Given the description of an element on the screen output the (x, y) to click on. 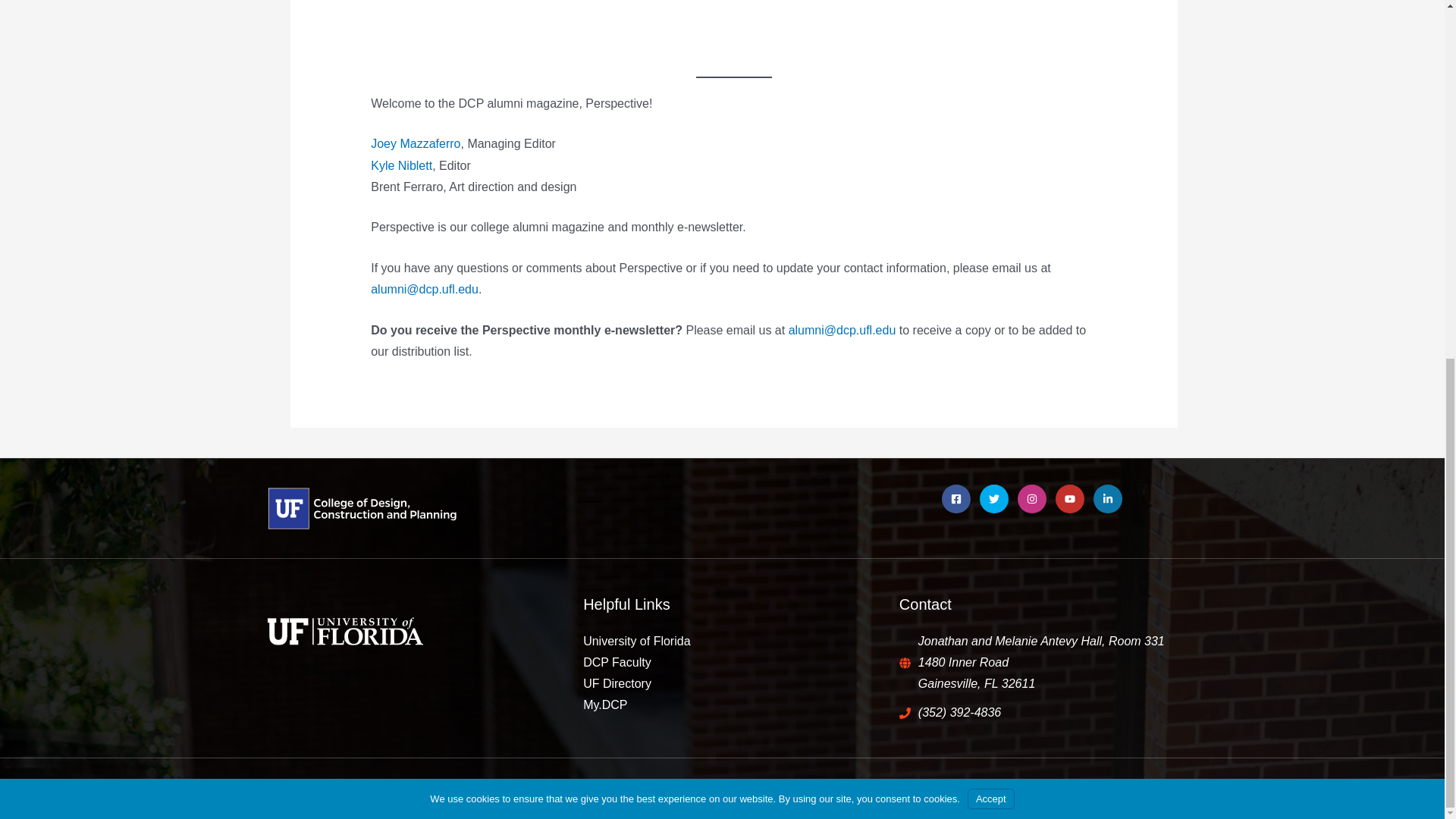
View (733, 22)
